Given the description of an element on the screen output the (x, y) to click on. 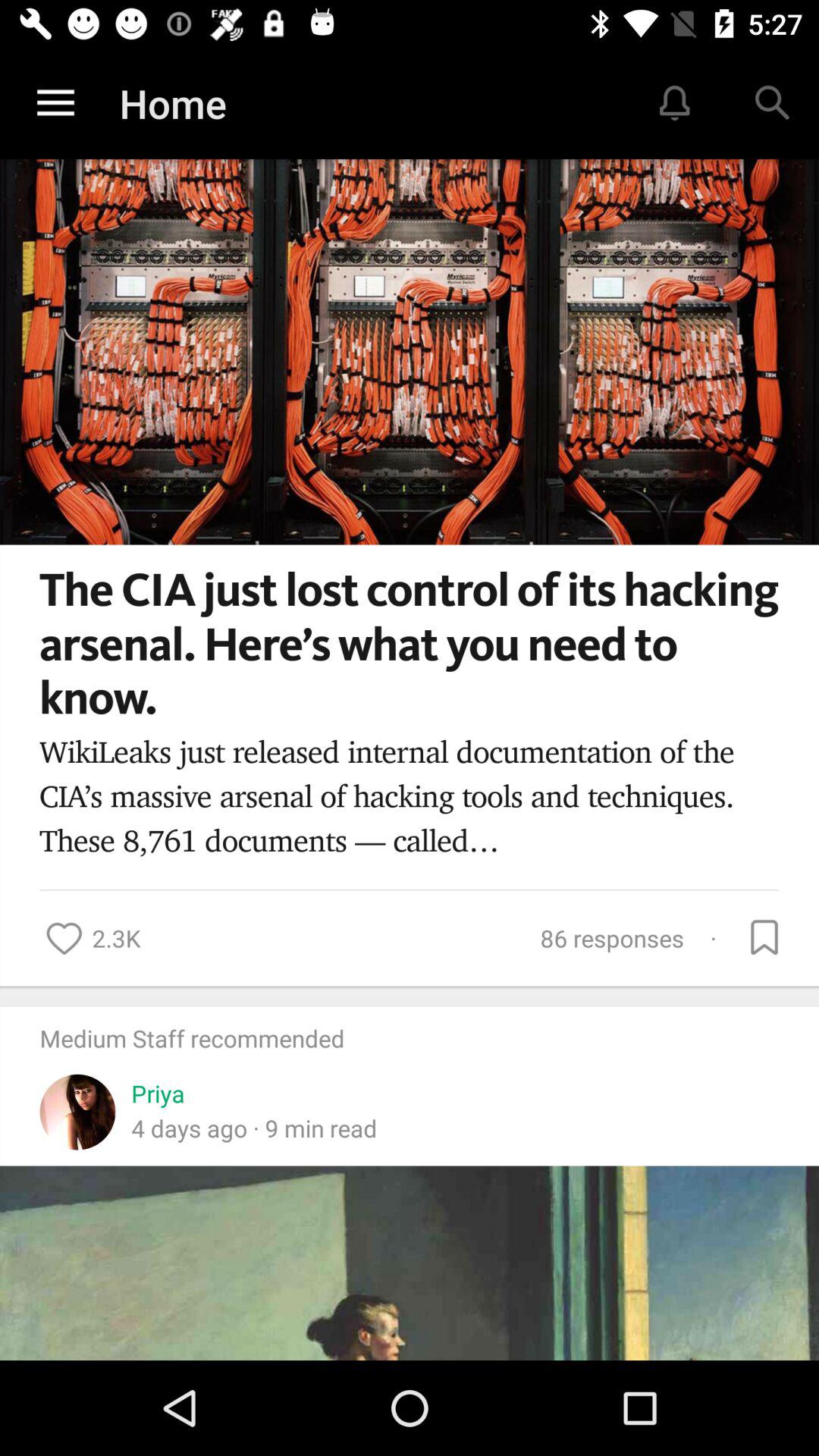
click on bell icon (675, 103)
click on icon below 527 (771, 103)
click on the image left to priya (77, 1102)
